Given the description of an element on the screen output the (x, y) to click on. 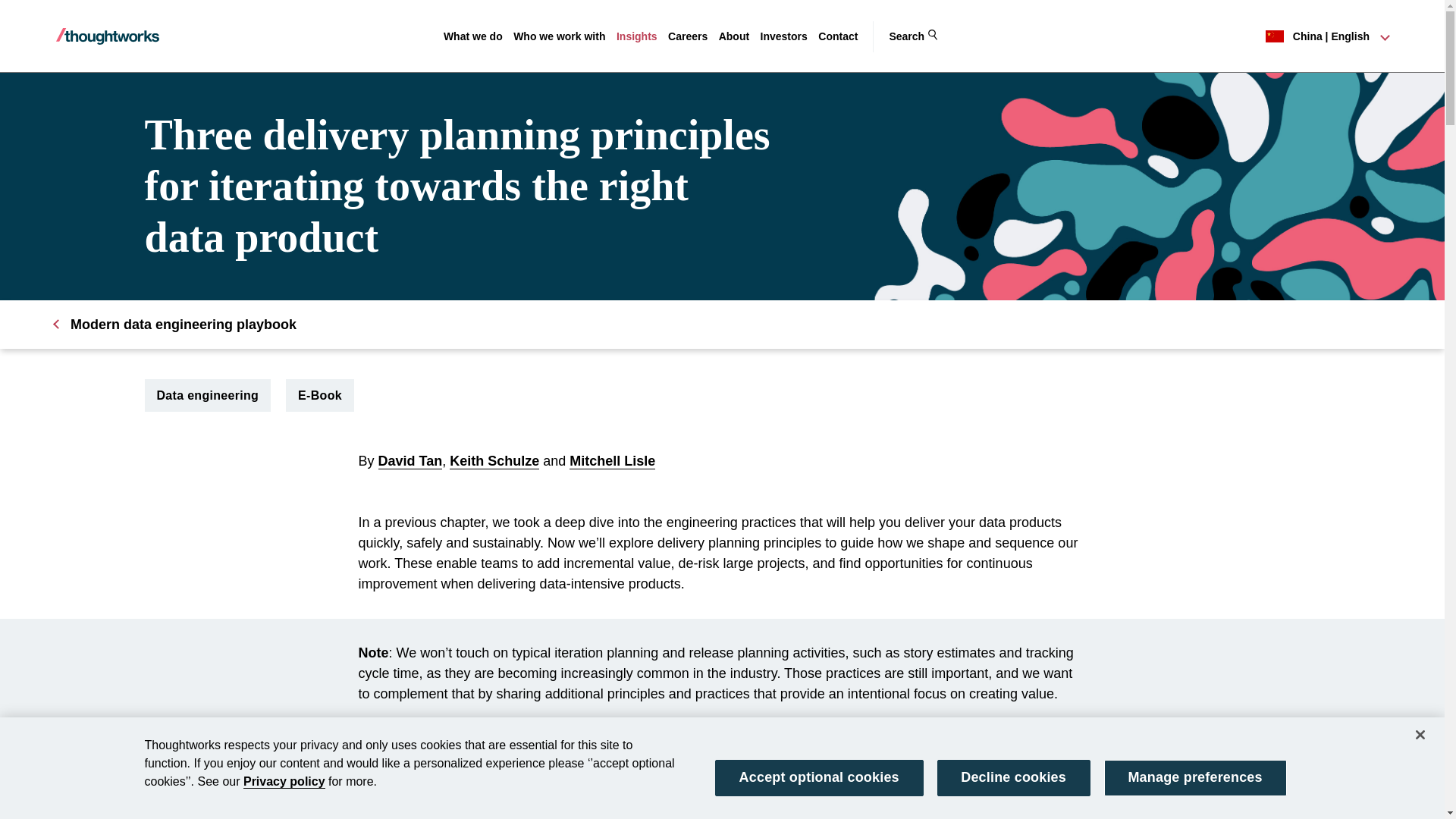
What we do (473, 36)
Insights (636, 36)
Insights (636, 36)
Who we work with (559, 36)
Who we work with (559, 36)
Thoughtworks (107, 36)
Thoughtworks (107, 36)
What we do (473, 36)
Careers (687, 36)
